Given the description of an element on the screen output the (x, y) to click on. 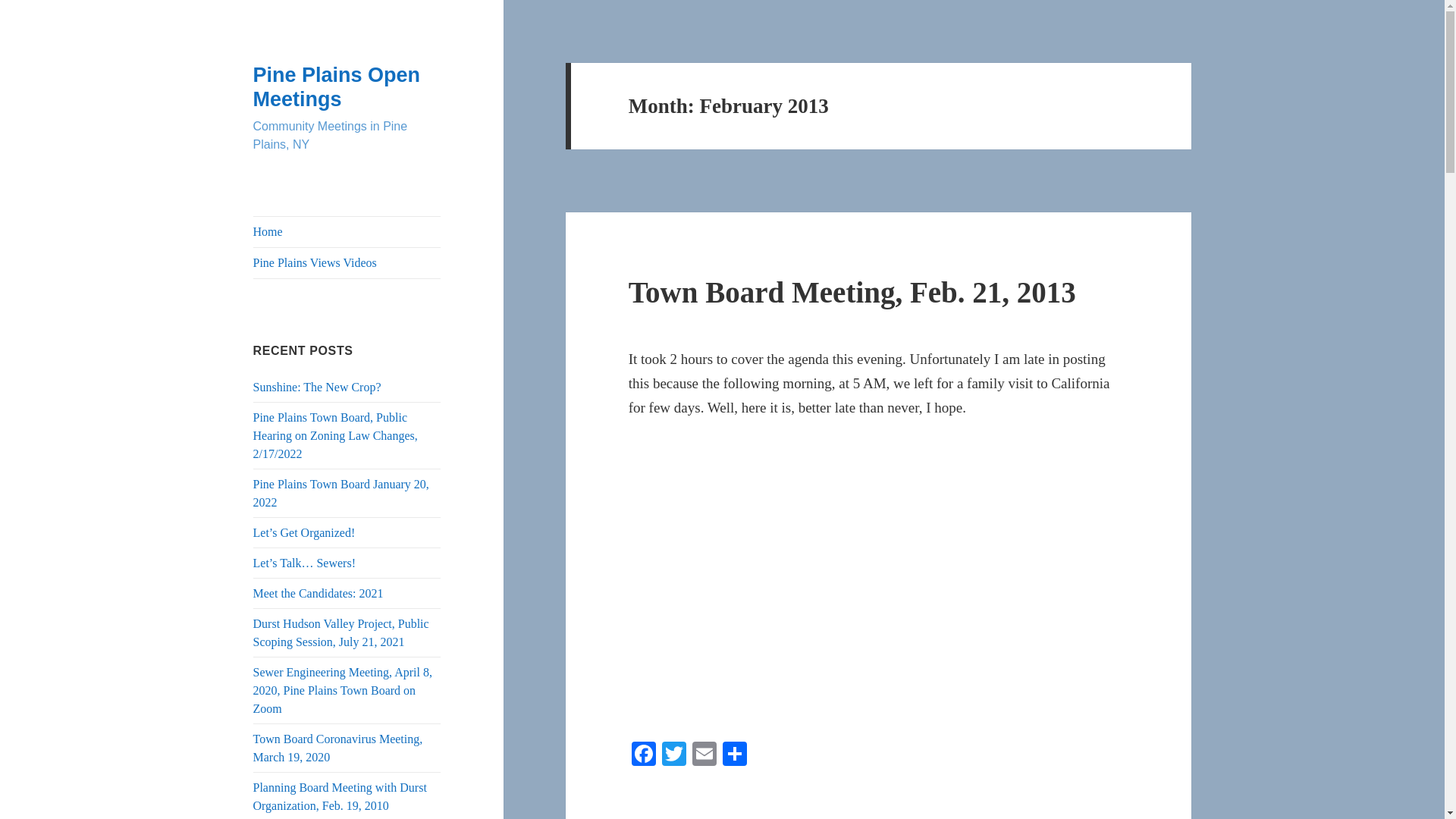
Home (347, 232)
Email (703, 755)
Twitter (673, 755)
Sunshine: The New Crop? (317, 386)
Facebook (643, 755)
Town Board Coronavirus Meeting, March 19, 2020 (338, 747)
Meet the Candidates: 2021 (318, 593)
Pine Plains Town Board January 20, 2022 (341, 492)
Pine Plains Open Meetings (336, 86)
